Given the description of an element on the screen output the (x, y) to click on. 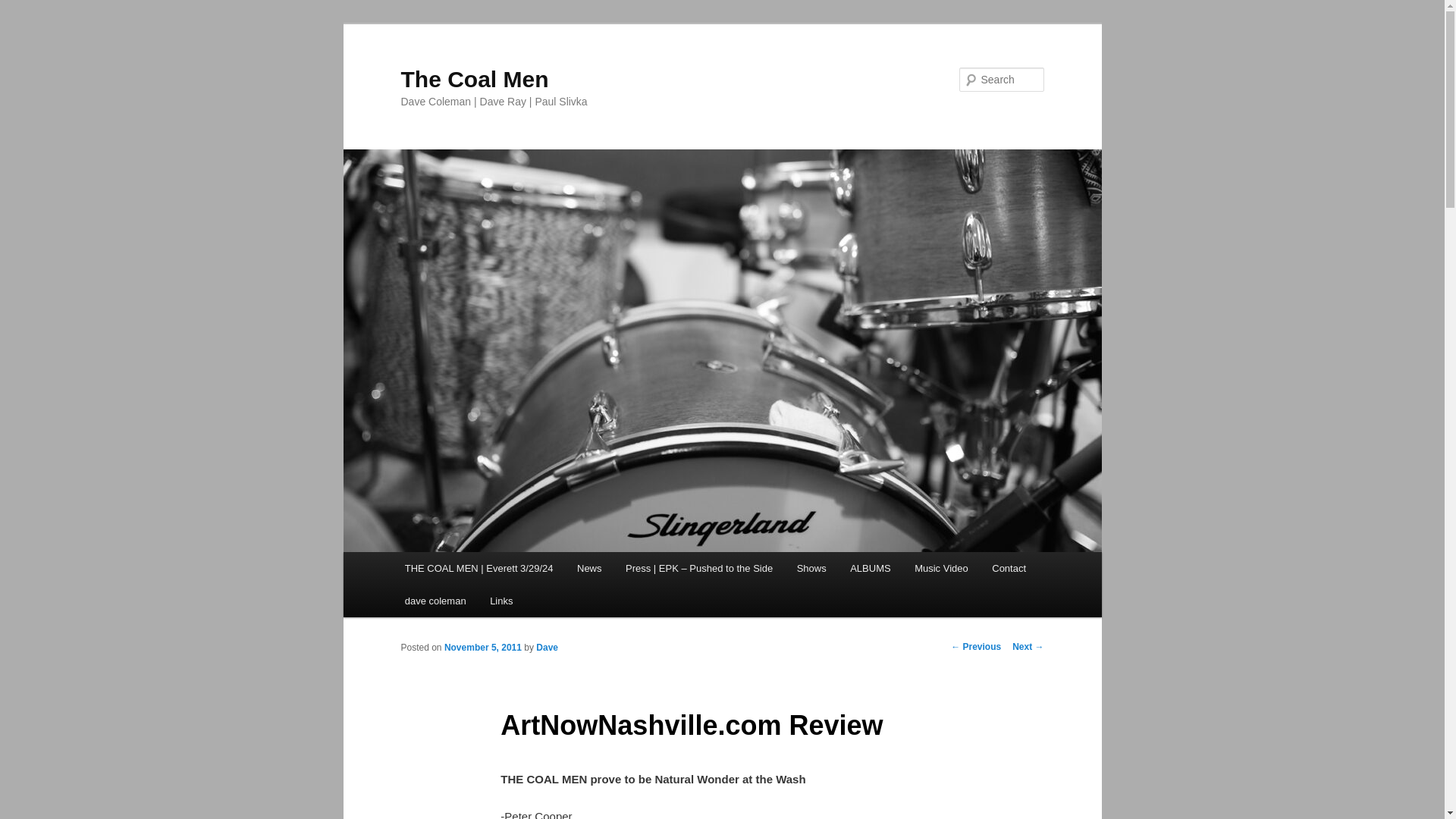
Music Video (940, 568)
News (588, 568)
ALBUMS (870, 568)
Dave (546, 647)
Shows (811, 568)
Search (24, 8)
The Coal Men (474, 78)
November 5, 2011 (482, 647)
View all posts by Dave (546, 647)
Links (500, 600)
3:12 am (482, 647)
Contact (1007, 568)
dave coleman (435, 600)
